Given the description of an element on the screen output the (x, y) to click on. 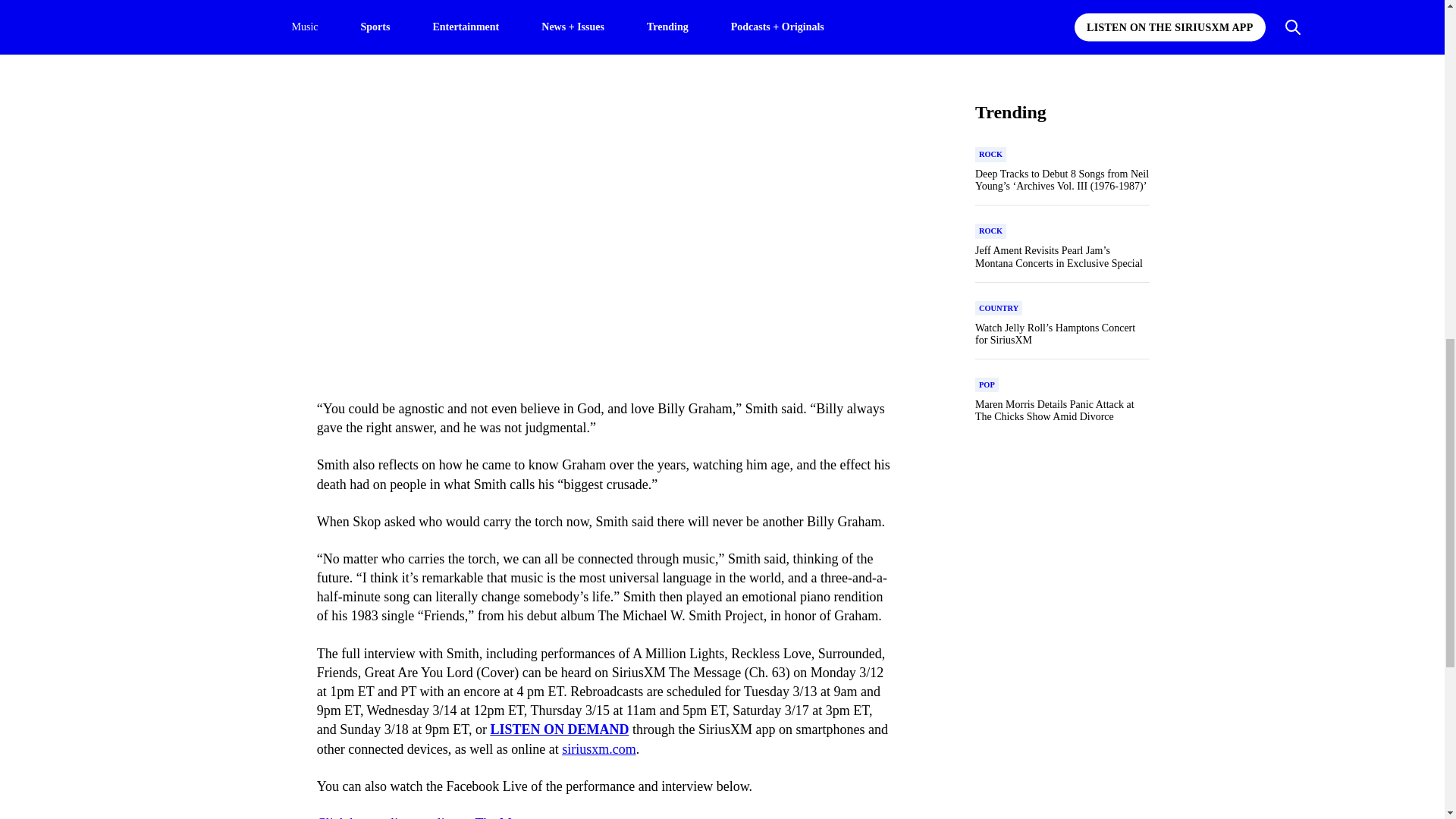
LISTEN ON DEMAND (558, 729)
siriusxm.com (599, 749)
Click here to listen online to The Message. (434, 817)
